Given the description of an element on the screen output the (x, y) to click on. 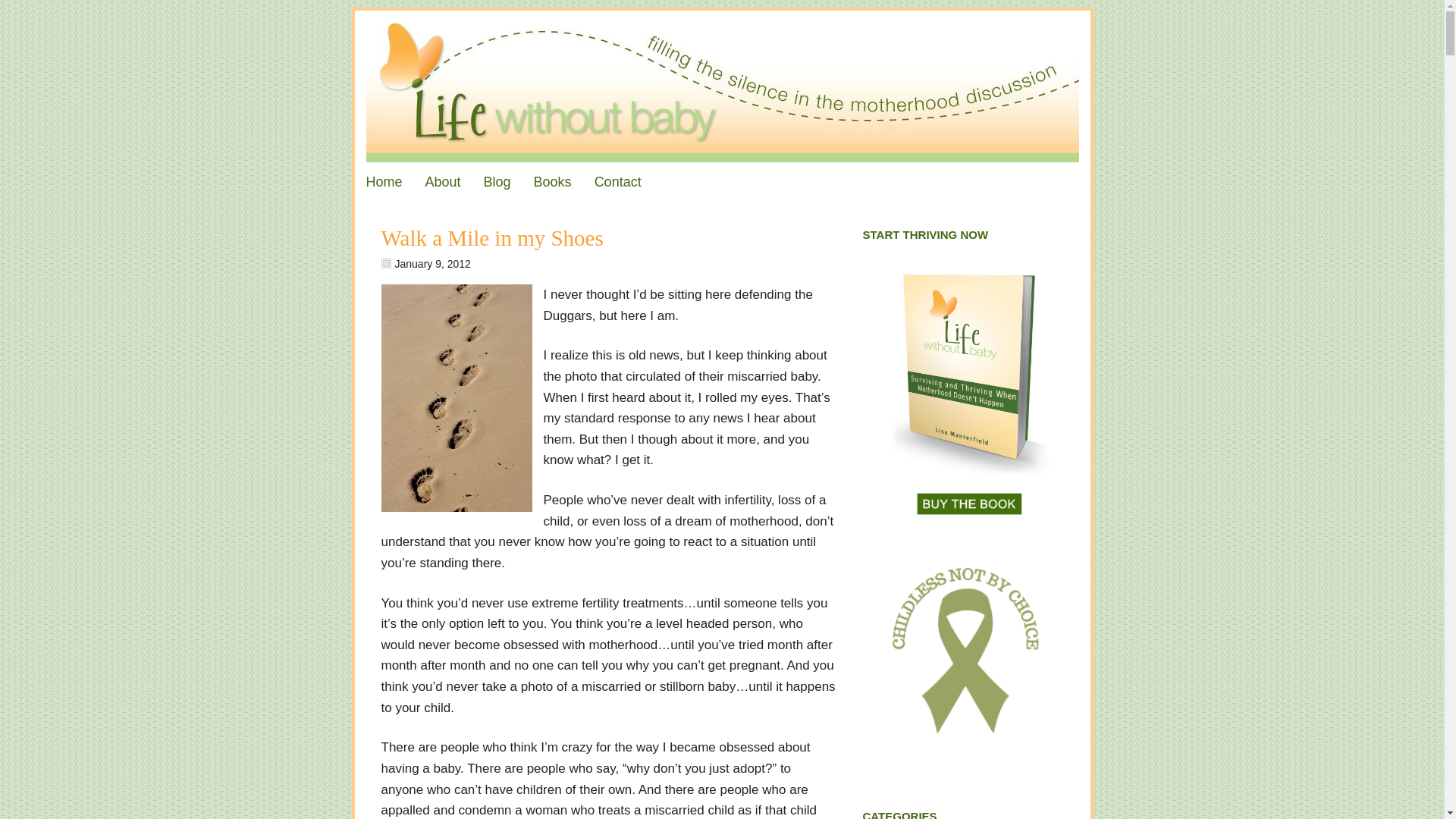
Blog (496, 181)
About (442, 181)
Life Without Baby (722, 86)
Books (552, 181)
Home (384, 181)
Contact (617, 181)
